Given the description of an element on the screen output the (x, y) to click on. 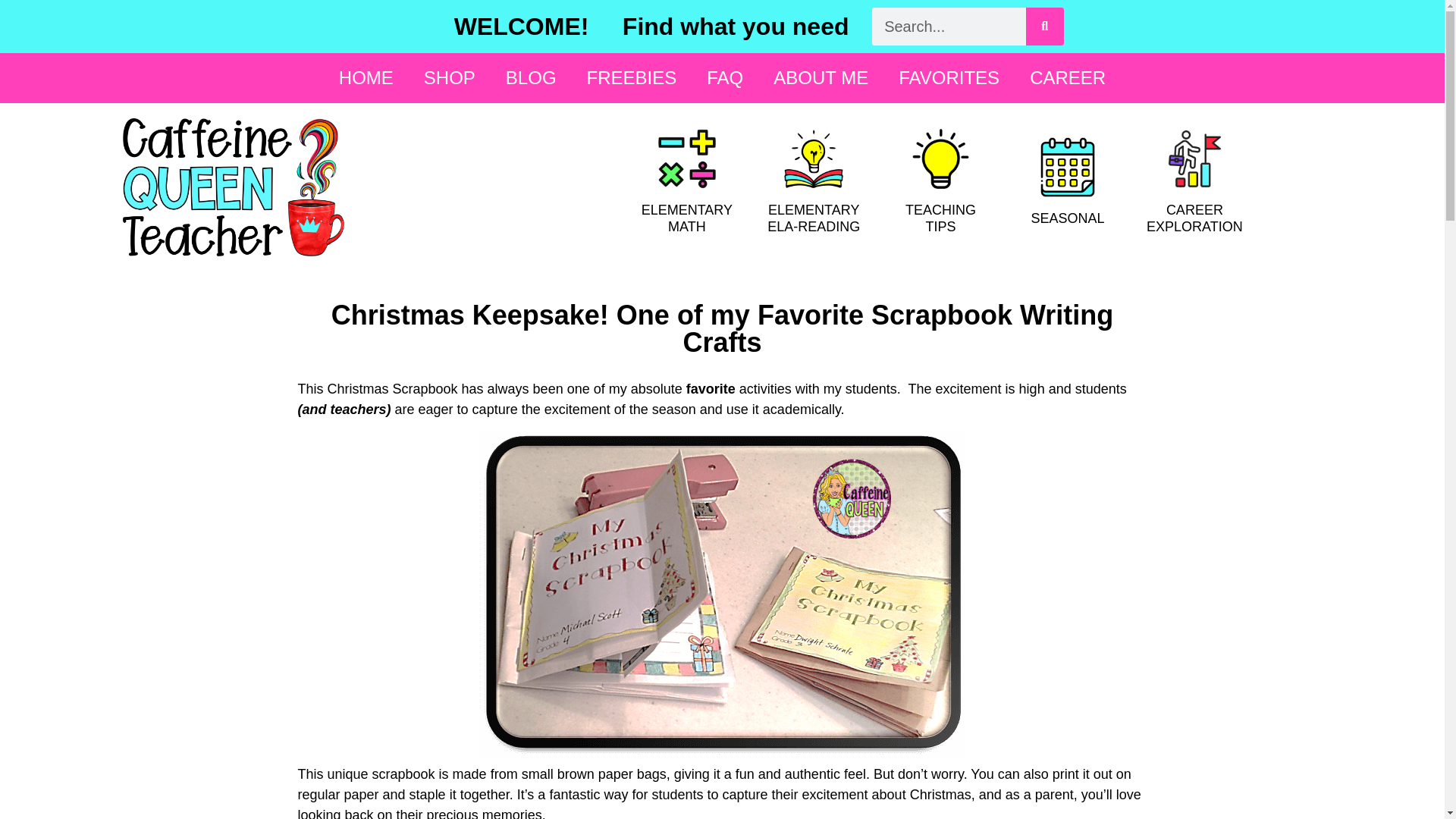
FAQ (724, 77)
BLOG (531, 77)
SHOP (449, 77)
ABOUT ME (821, 77)
CAREER (1067, 77)
HOME (365, 77)
FREEBIES (632, 77)
FAVORITES (949, 77)
